Given the description of an element on the screen output the (x, y) to click on. 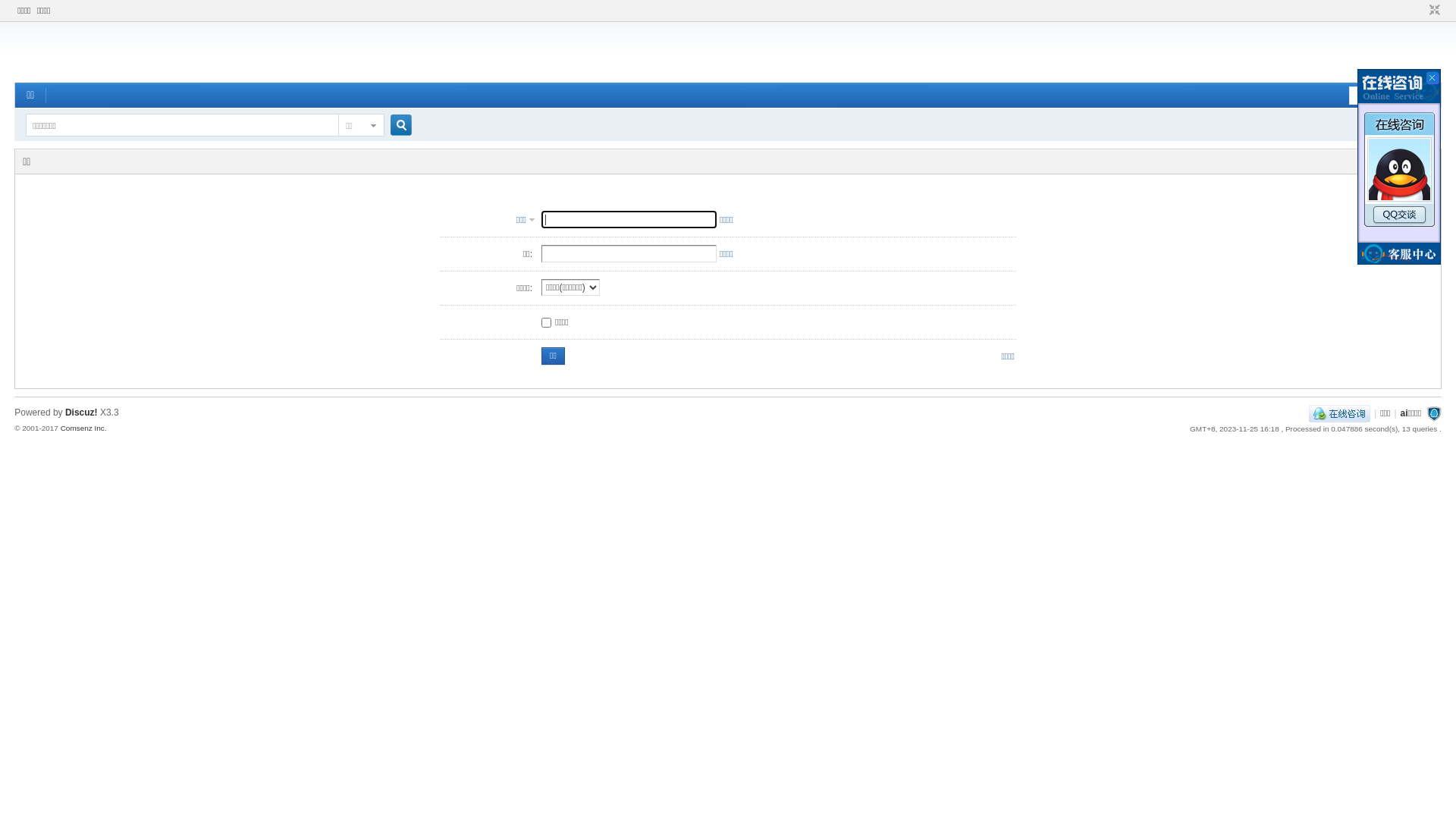
Discuz! Element type: text (81, 412)
Comsenz Inc. Element type: text (83, 427)
QQ Element type: hover (1339, 412)
true Element type: text (395, 125)
